Given the description of an element on the screen output the (x, y) to click on. 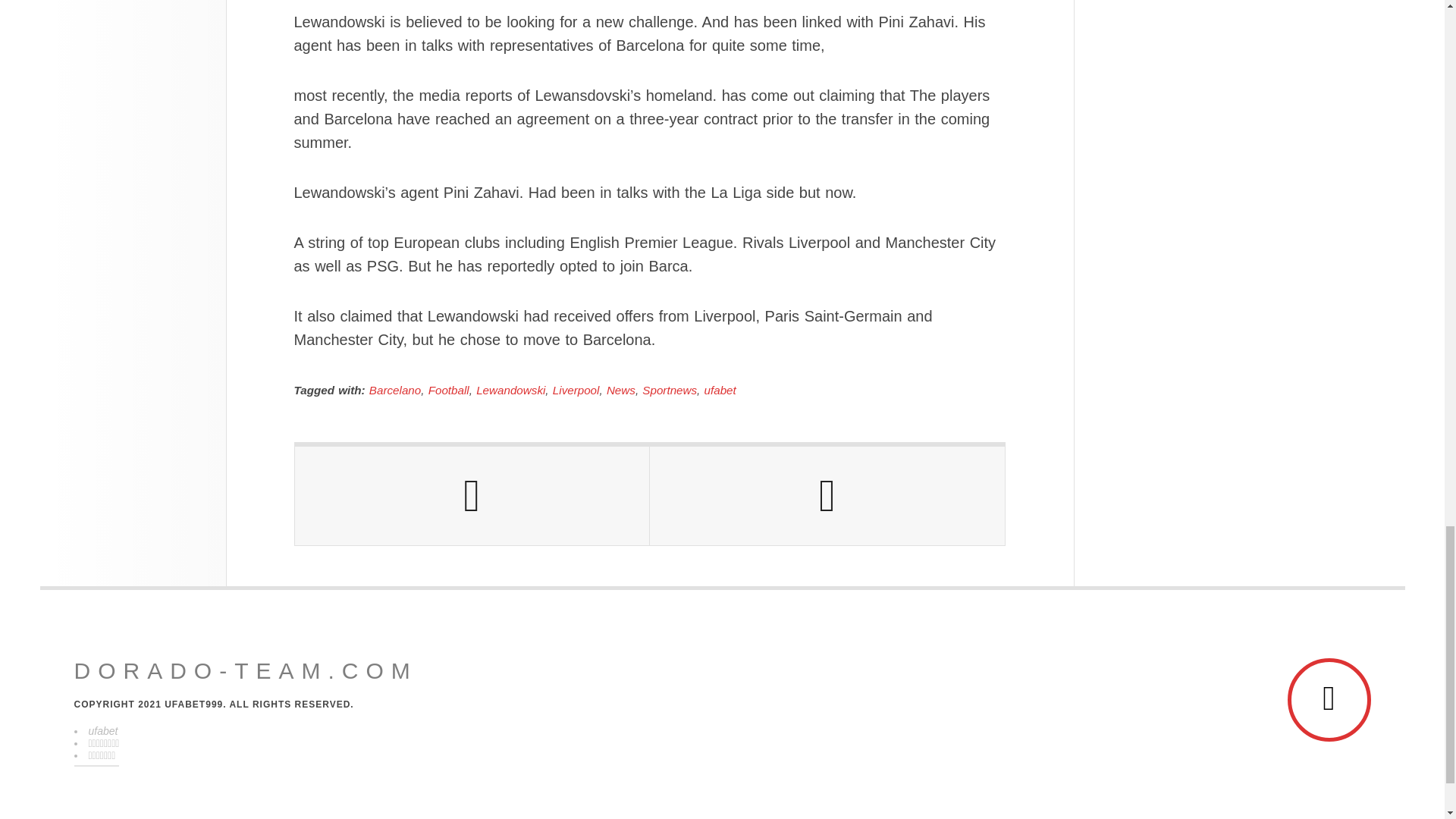
Liverpool (576, 390)
ufabet (720, 390)
Next Post (826, 495)
Previous Post (471, 495)
Football (448, 390)
Barcelano (394, 390)
News (620, 390)
Sportnews (669, 390)
dorado-team (245, 670)
Lewandowski (510, 390)
